Given the description of an element on the screen output the (x, y) to click on. 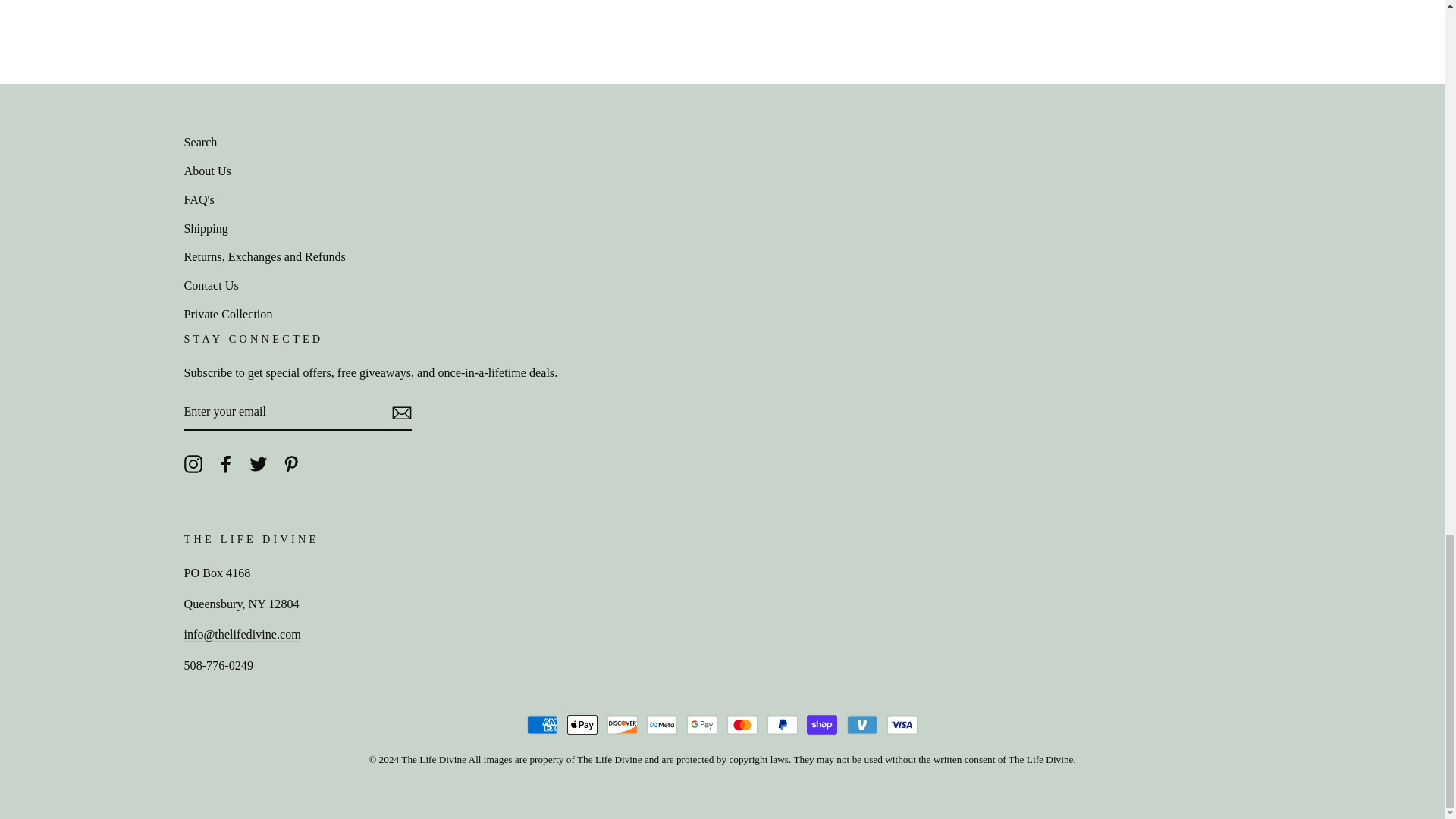
The Life Divine on Pinterest (290, 463)
Contact Us (241, 635)
The Life Divine on Twitter (257, 463)
American Express (542, 725)
Apple Pay (581, 725)
The Life Divine on Instagram (192, 463)
The Life Divine on Facebook (225, 463)
